Given the description of an element on the screen output the (x, y) to click on. 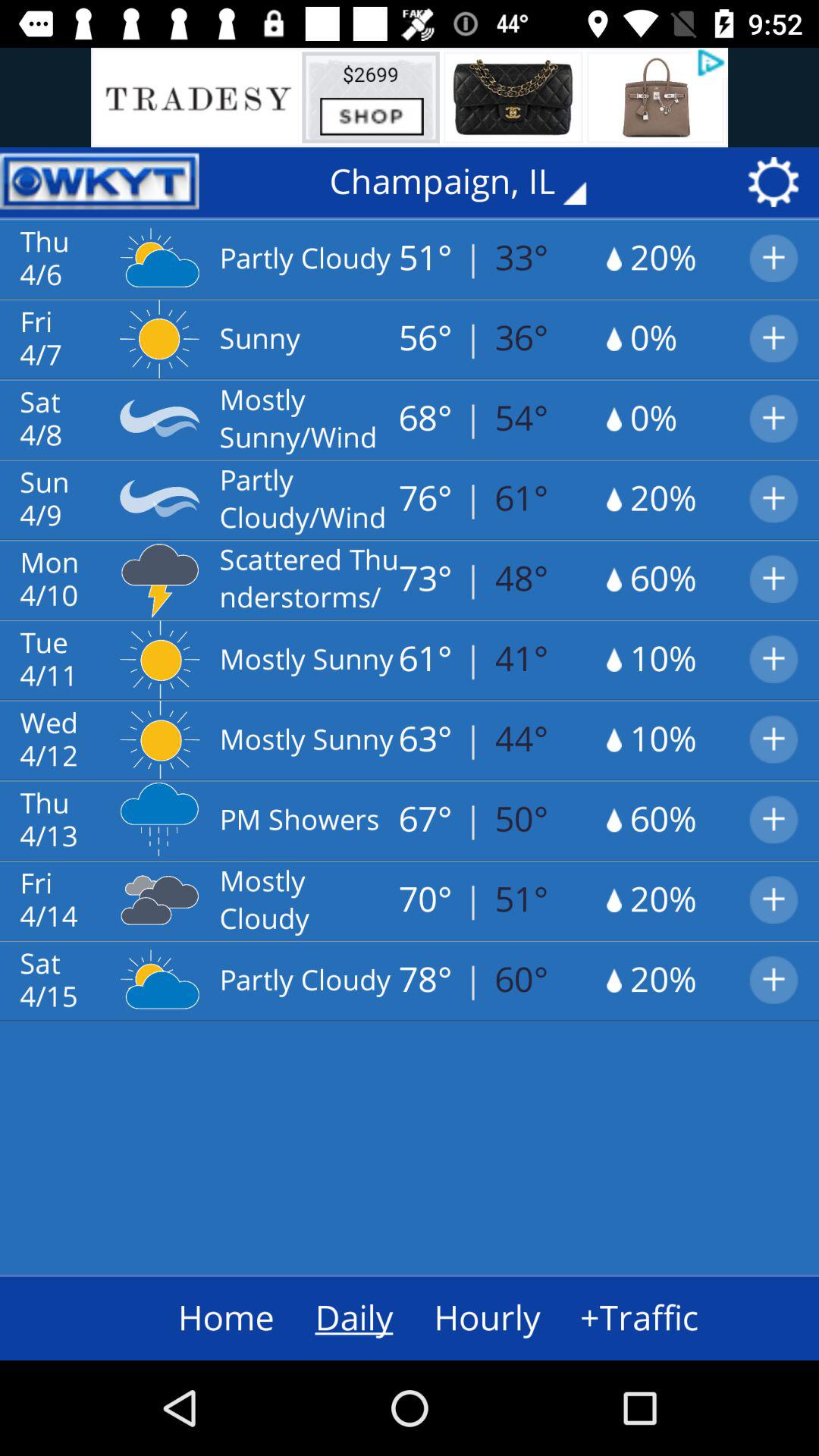
select settings button at the top right side of the page (778, 181)
click on home option (196, 1318)
